Given the description of an element on the screen output the (x, y) to click on. 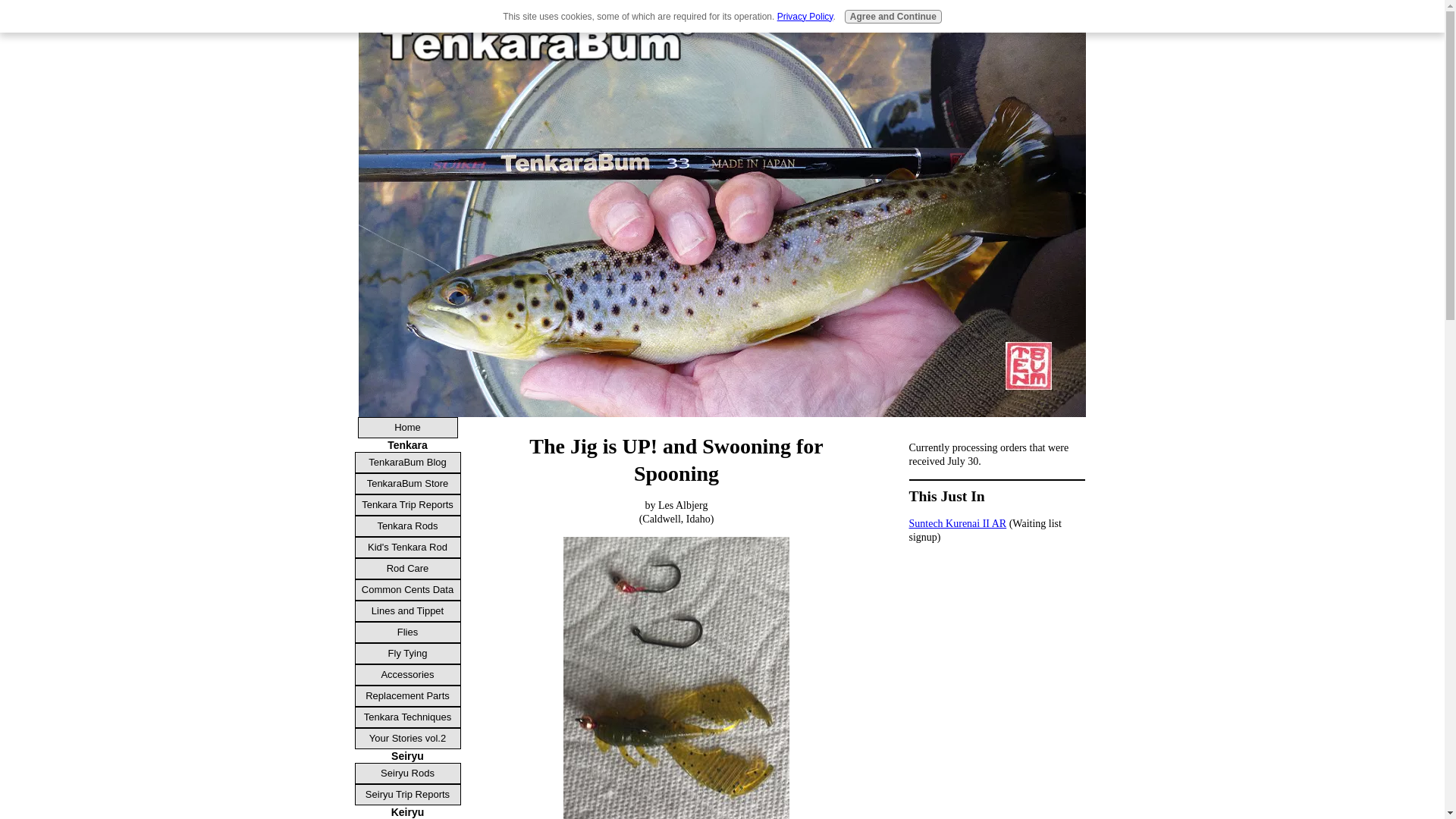
Common Cents Data (408, 589)
Kid's Tenkara Rod (408, 547)
Replacement Parts (408, 695)
Your Stories vol.2 (408, 738)
Seiryu Rods (408, 772)
TenkaraBum Store (408, 483)
Lines and Tippet (408, 610)
Tenkara Trip Reports (408, 504)
Home (408, 427)
Tenkara Rods (408, 526)
Fly Tying (408, 653)
Flies (408, 631)
Seiryu Trip Reports (408, 794)
Accessories (408, 674)
Rod Care (408, 568)
